Given the description of an element on the screen output the (x, y) to click on. 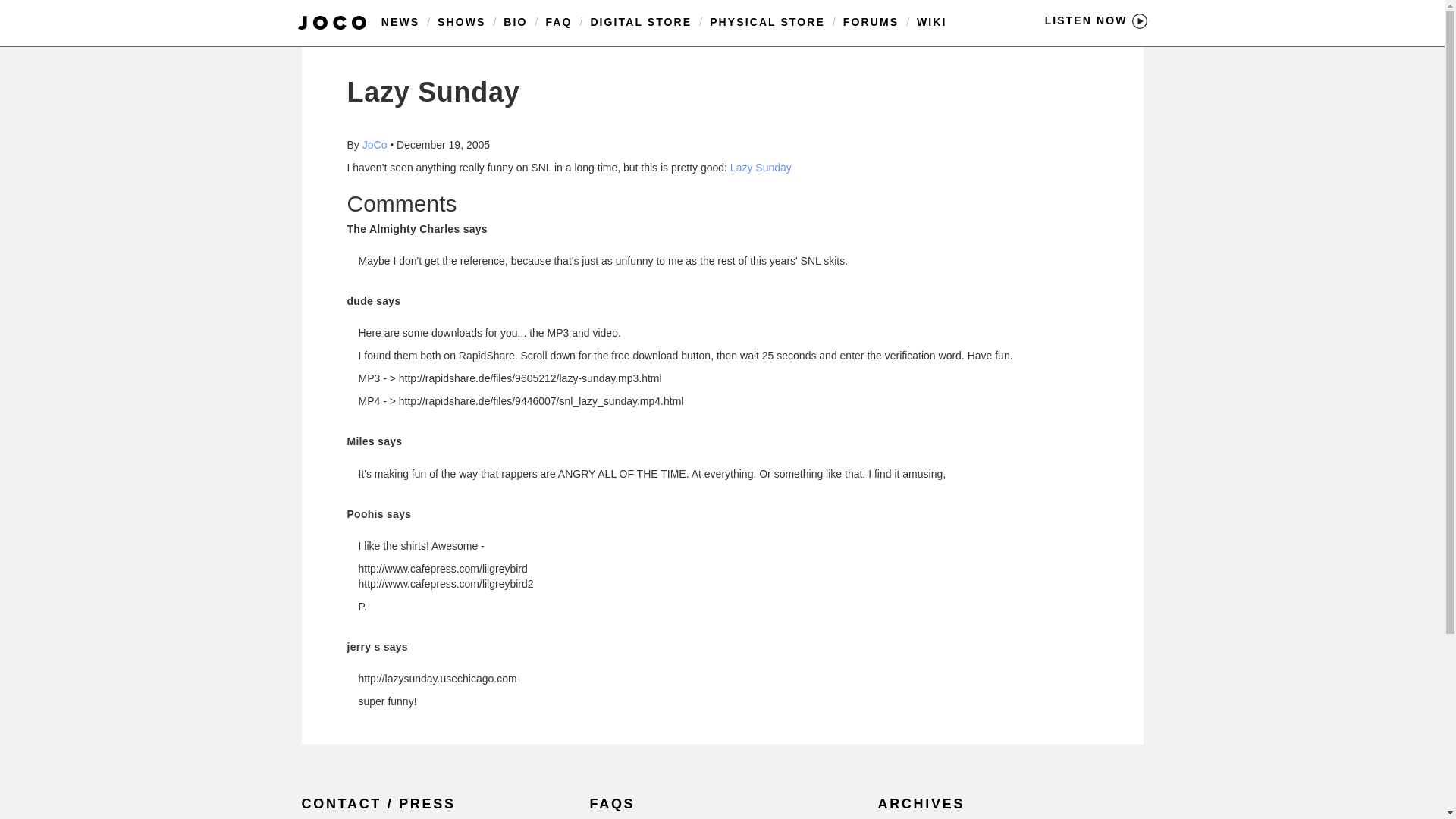
BIO (515, 21)
NEWS (400, 21)
JoCo (374, 144)
SHOWS (461, 21)
PHYSICAL STORE (767, 21)
LISTEN NOW (1096, 20)
Lazy Sunday (761, 167)
FAQ (558, 21)
DIGITAL STORE (640, 21)
WIKI (932, 21)
